Given the description of an element on the screen output the (x, y) to click on. 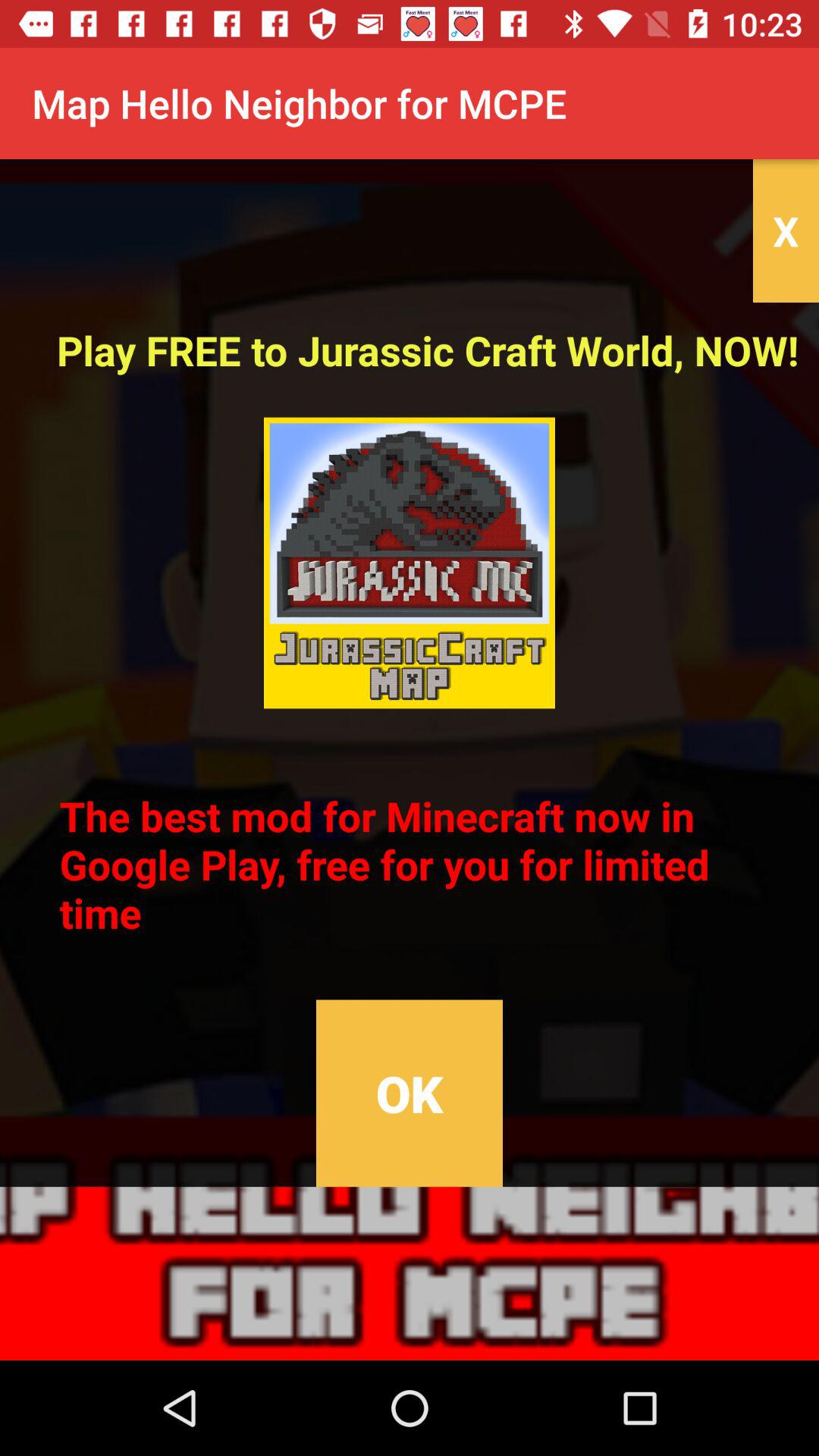
turn off the item below the the best mod icon (409, 1092)
